Given the description of an element on the screen output the (x, y) to click on. 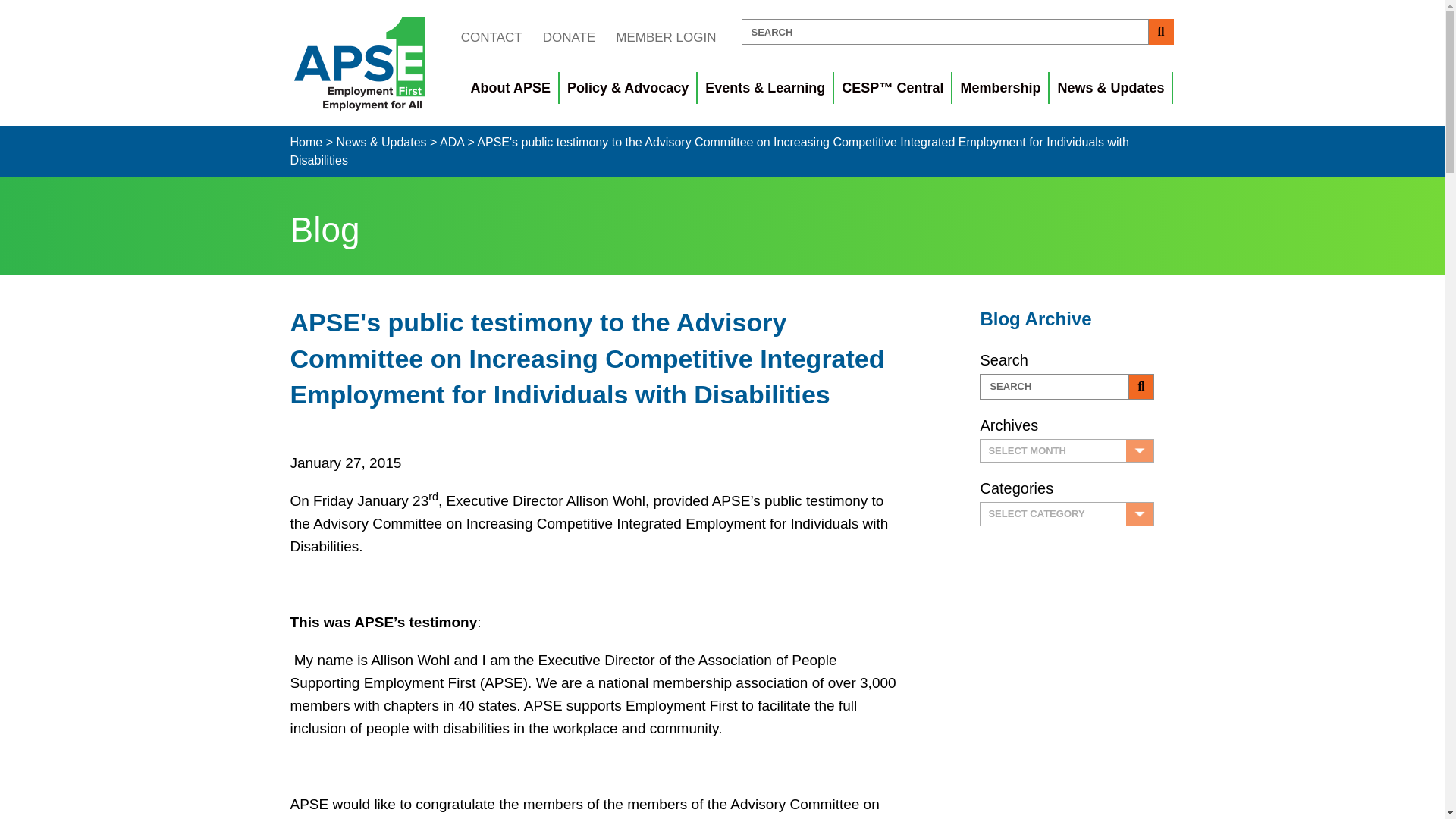
SEARCH (944, 31)
apse-logo (359, 63)
Go to the ADA category archives. (451, 141)
DONATE (568, 37)
Type and press Enter to search. (1066, 386)
SEARCH (1053, 386)
Type and press Enter to search. (957, 31)
SEARCH (944, 31)
CONTACT (491, 37)
Membership (1000, 88)
